Given the description of an element on the screen output the (x, y) to click on. 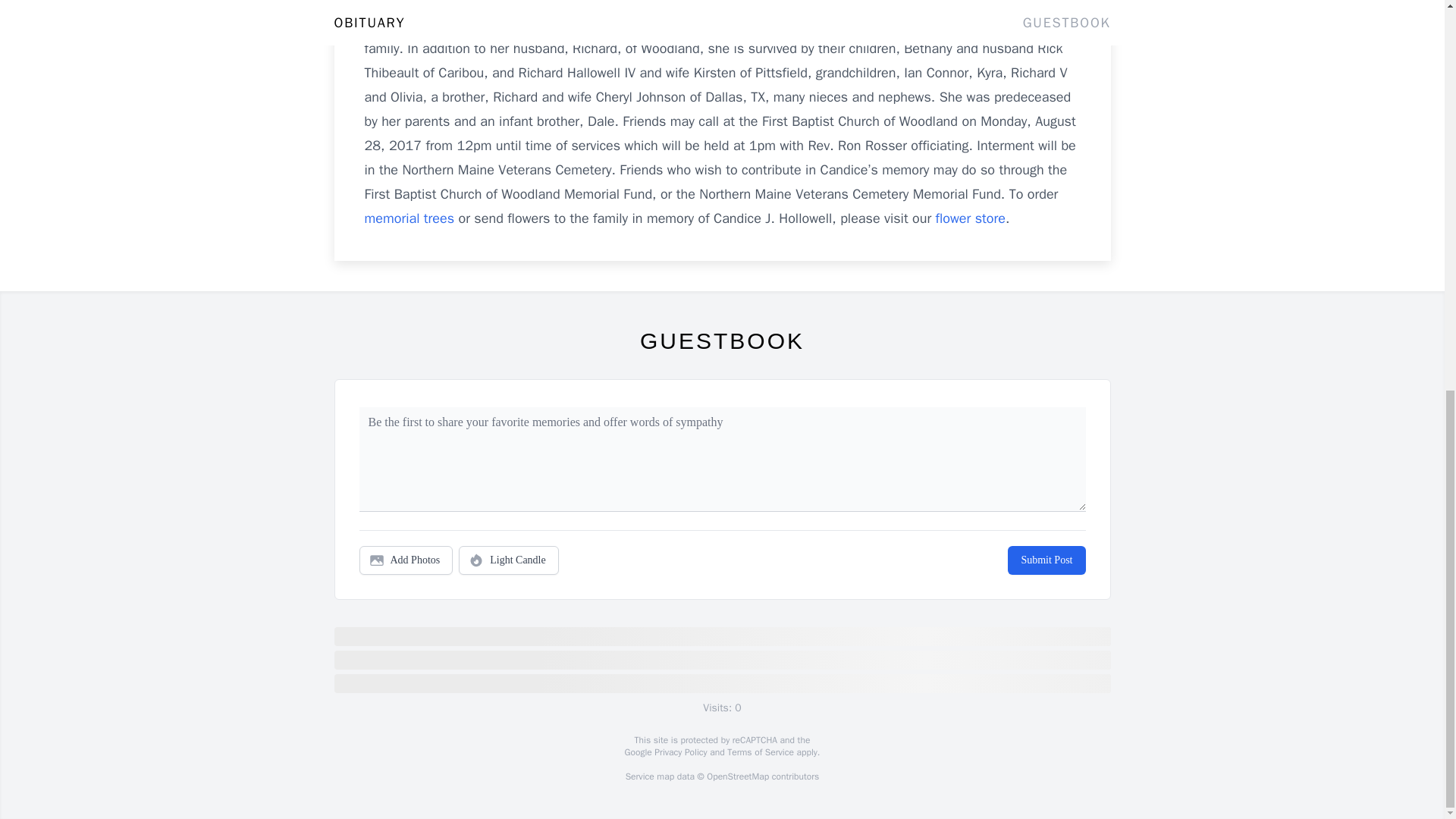
Submit Post (1045, 560)
Light Candle (508, 560)
memorial trees (409, 217)
Terms of Service (759, 752)
Add Photos (405, 560)
flower store (971, 217)
OpenStreetMap (737, 776)
Privacy Policy (679, 752)
